Given the description of an element on the screen output the (x, y) to click on. 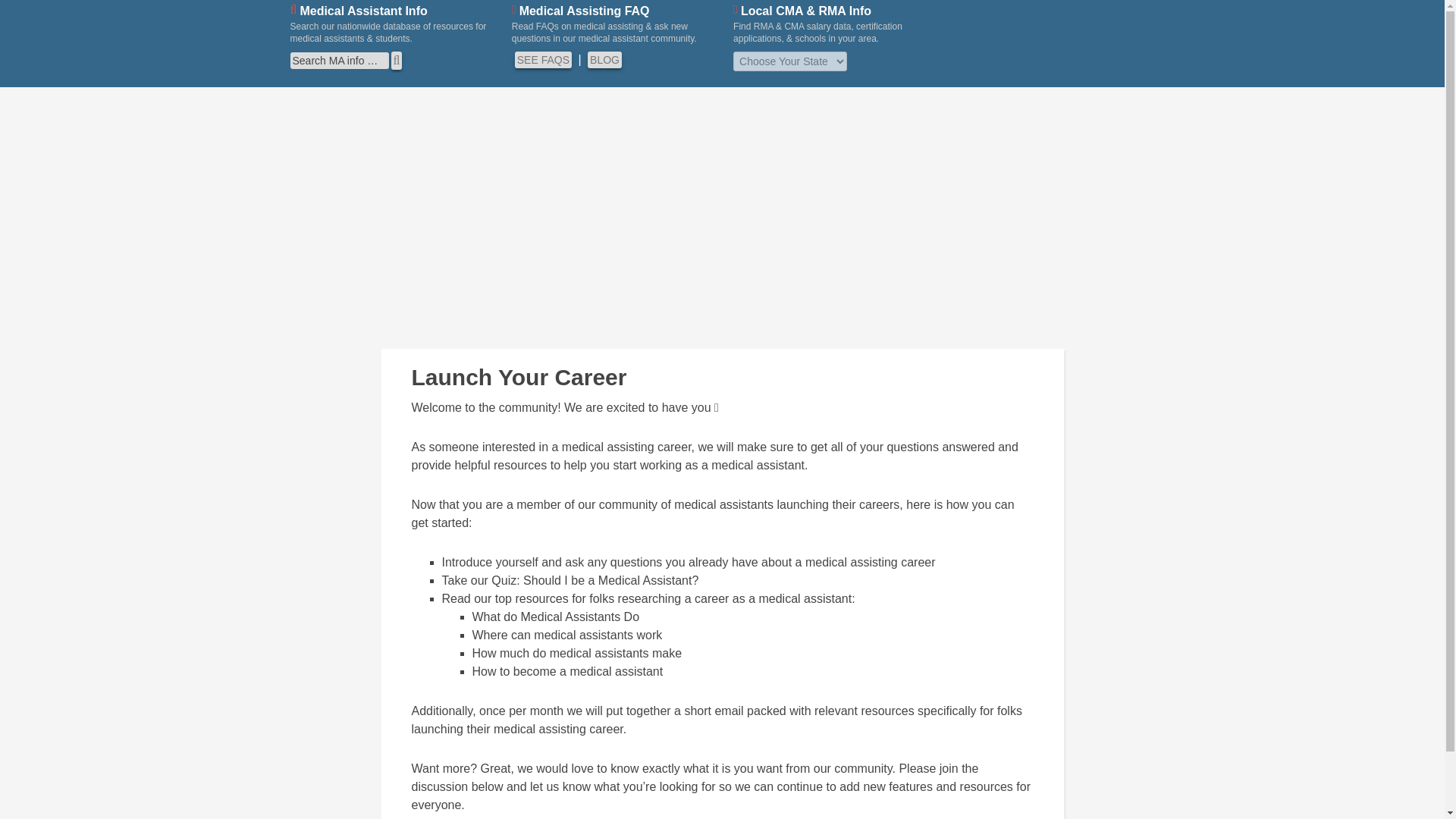
Blog (604, 59)
Blog (604, 59)
See FAQs (543, 59)
See FAQs (543, 59)
